Given the description of an element on the screen output the (x, y) to click on. 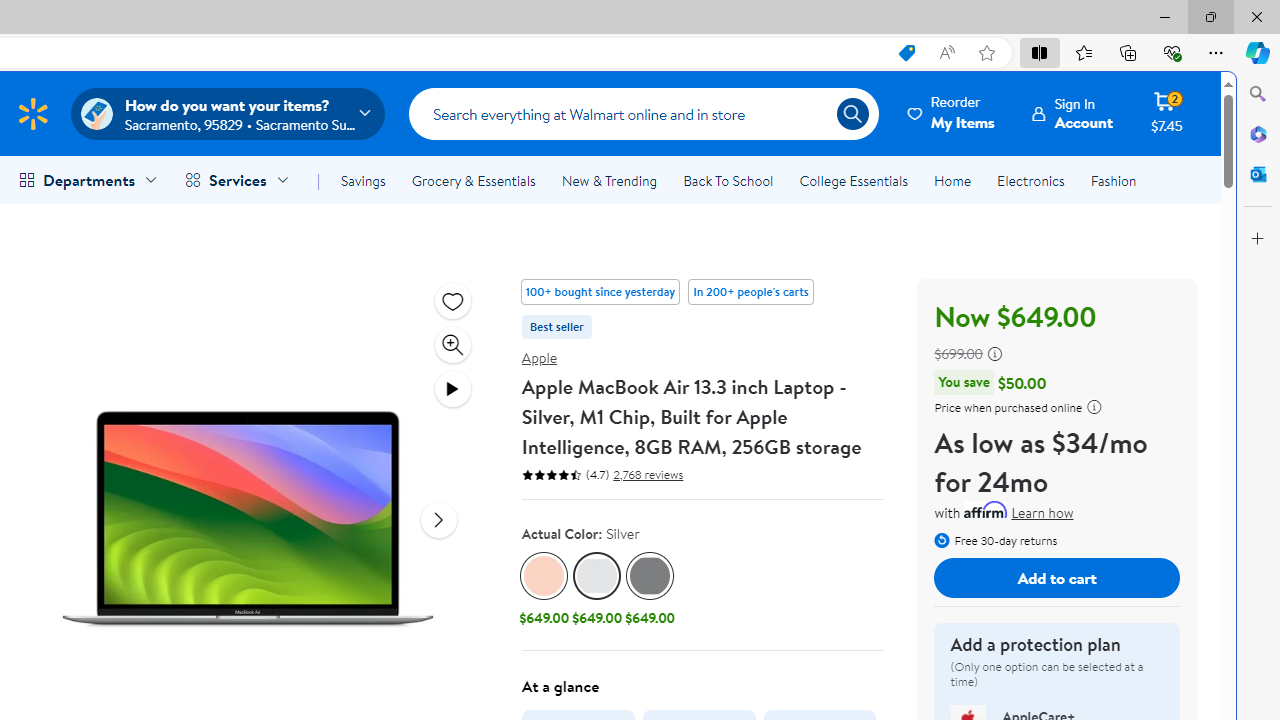
This site has coupons! Shopping in Microsoft Edge, 7 (906, 53)
next media item (437, 519)
Close Search pane (1258, 94)
Sign In Account (1072, 113)
Free 30-day returns (996, 538)
Walmart Homepage (32, 113)
ReorderMy Items (952, 113)
Cart contains 2 items Total Amount $7.45 (1166, 113)
